Given the description of an element on the screen output the (x, y) to click on. 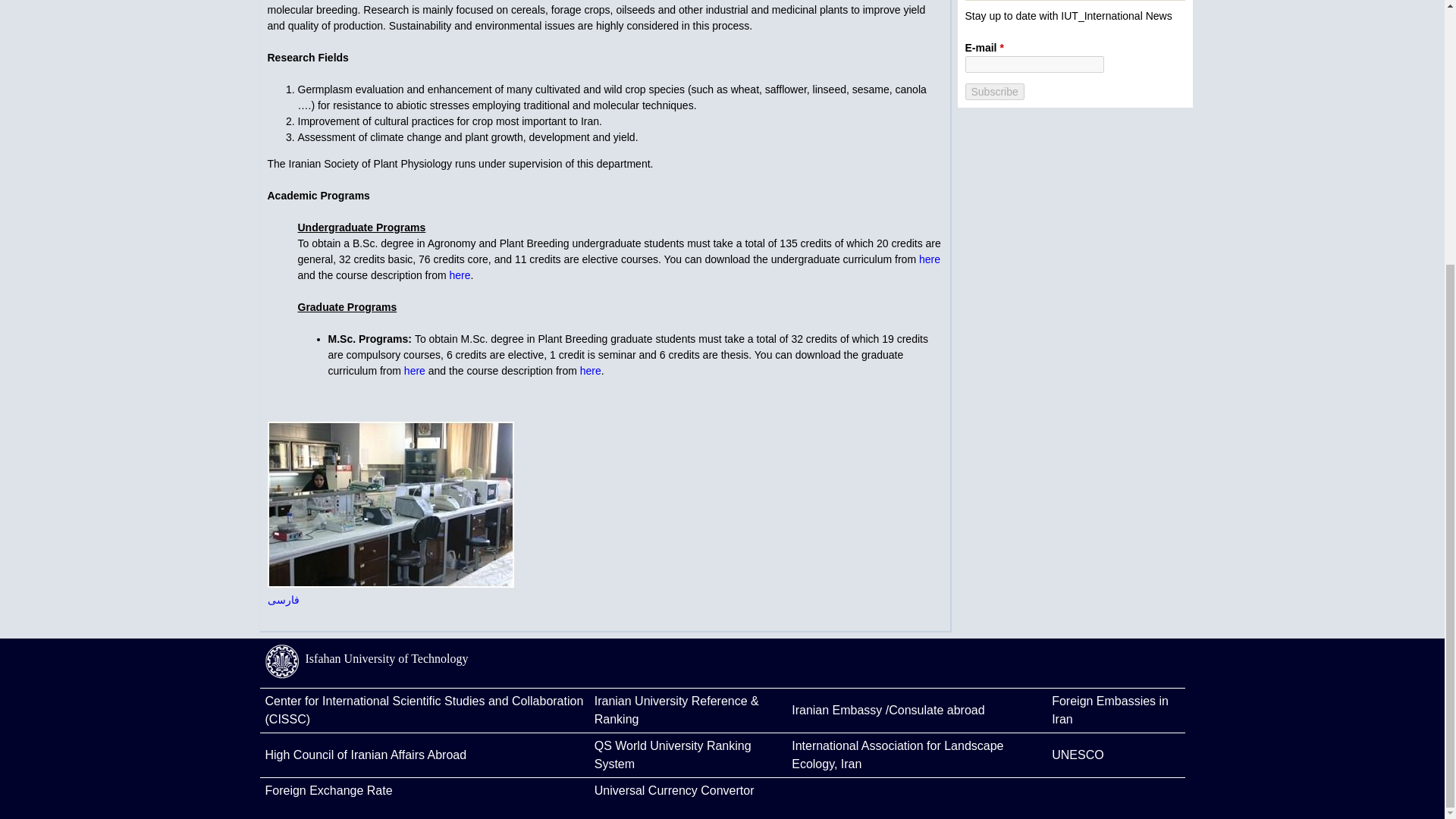
Subscribe (993, 91)
